Given the description of an element on the screen output the (x, y) to click on. 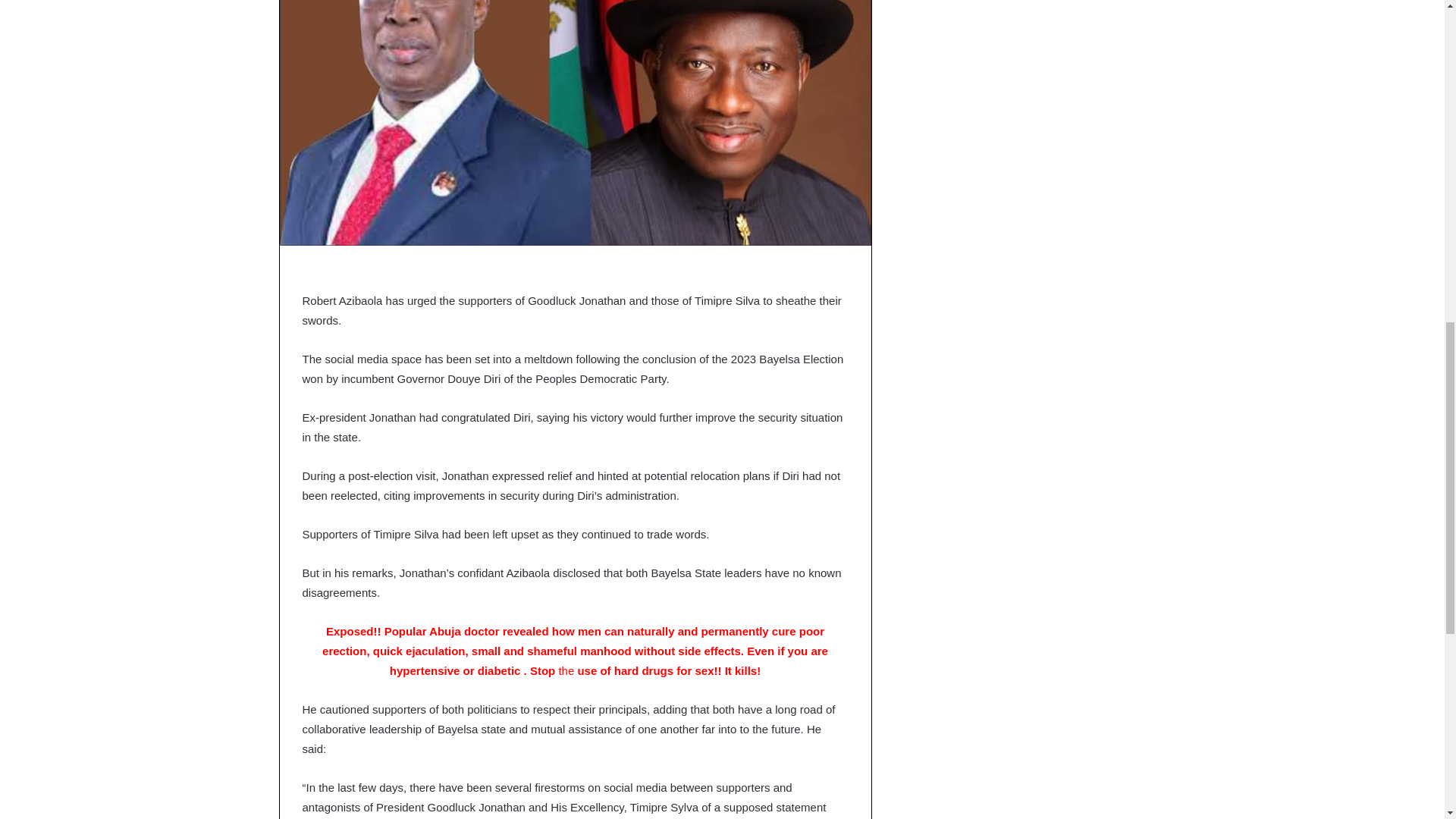
the (565, 670)
use of hard drugs for sex!! It kills! (666, 670)
